Given the description of an element on the screen output the (x, y) to click on. 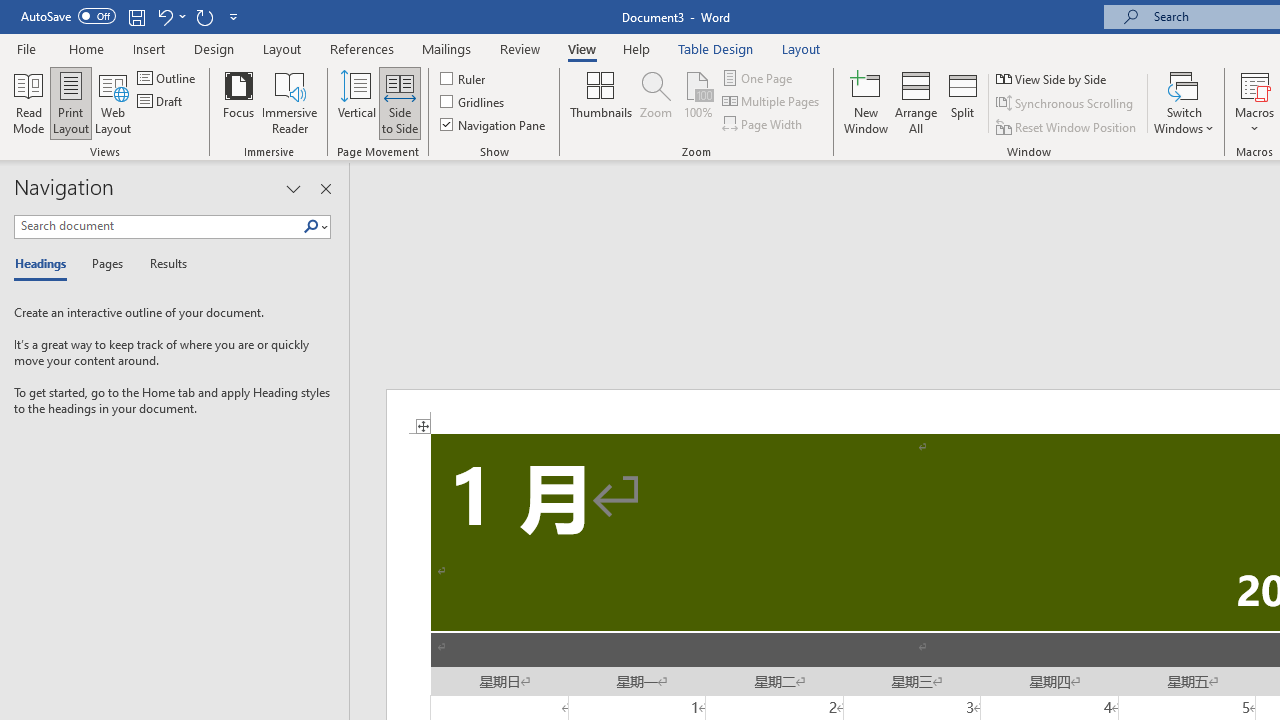
Table Design (715, 48)
Gridlines (473, 101)
Thumbnails (601, 102)
Reset Window Position (1068, 126)
Page Width (763, 124)
View Side by Side (1053, 78)
Results (161, 264)
Undo Increase Indent (170, 15)
